Given the description of an element on the screen output the (x, y) to click on. 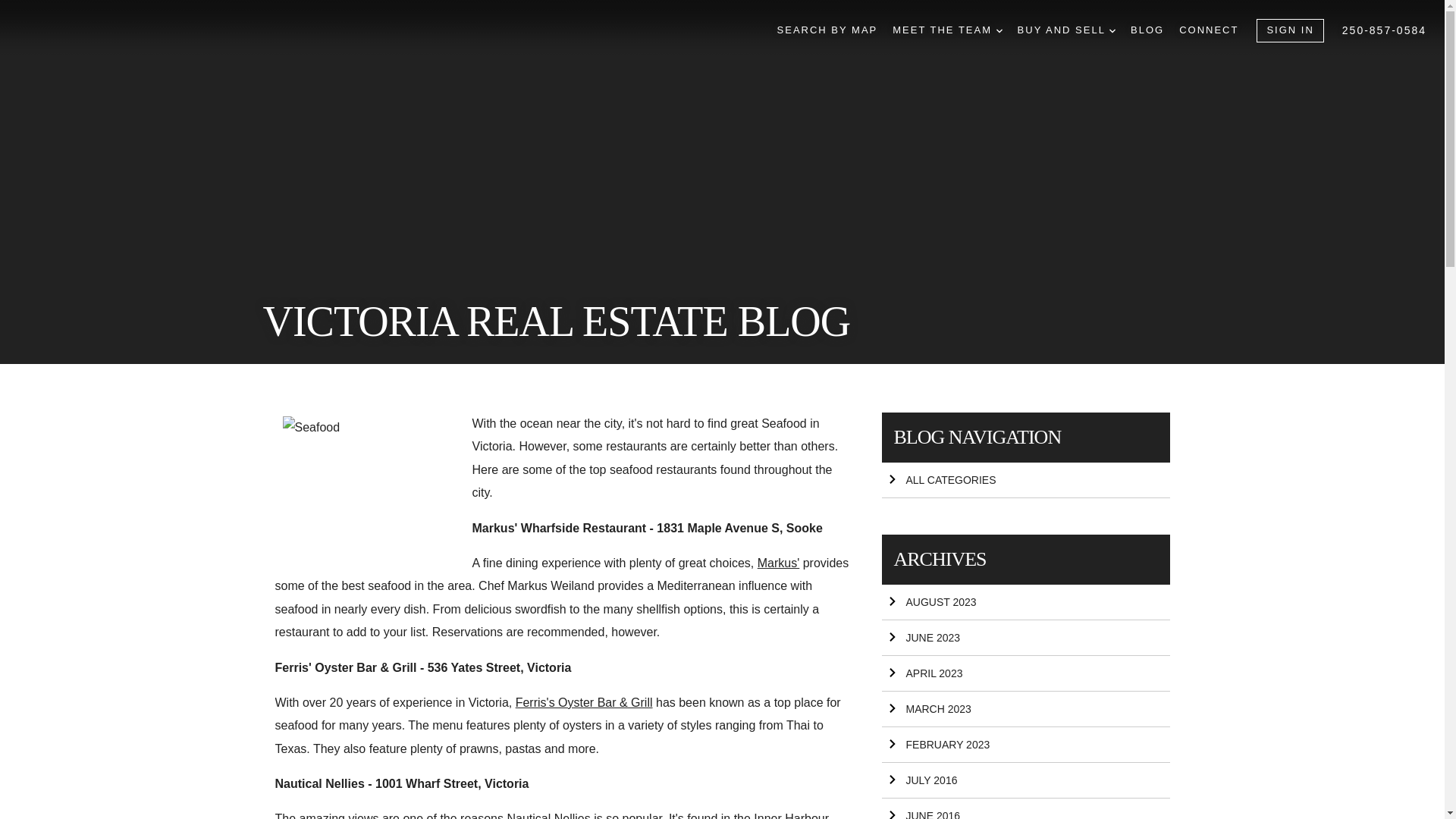
AUGUST 2023 (1024, 601)
SIGN IN (1289, 30)
BLOG (1147, 30)
MEET THE TEAM DROPDOWN ARROW (946, 30)
SEARCH BY MAP (827, 30)
250-857-0584 (1384, 29)
ALL CATEGORIES (1024, 479)
CONNECT (1209, 30)
DROPDOWN ARROW (1112, 30)
Markus' (778, 562)
